Given the description of an element on the screen output the (x, y) to click on. 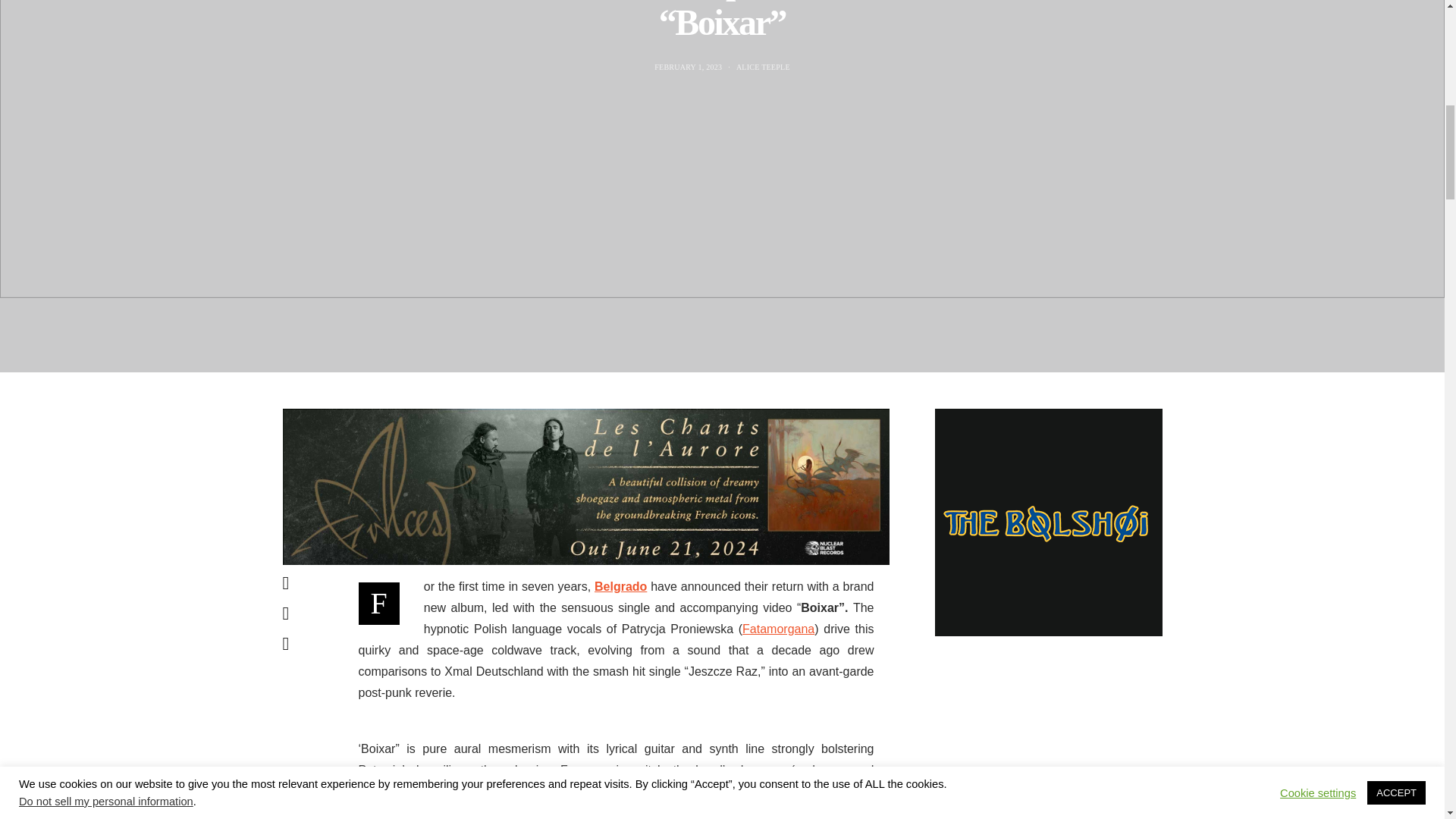
View all posts by Alice Teeple (763, 67)
